Given the description of an element on the screen output the (x, y) to click on. 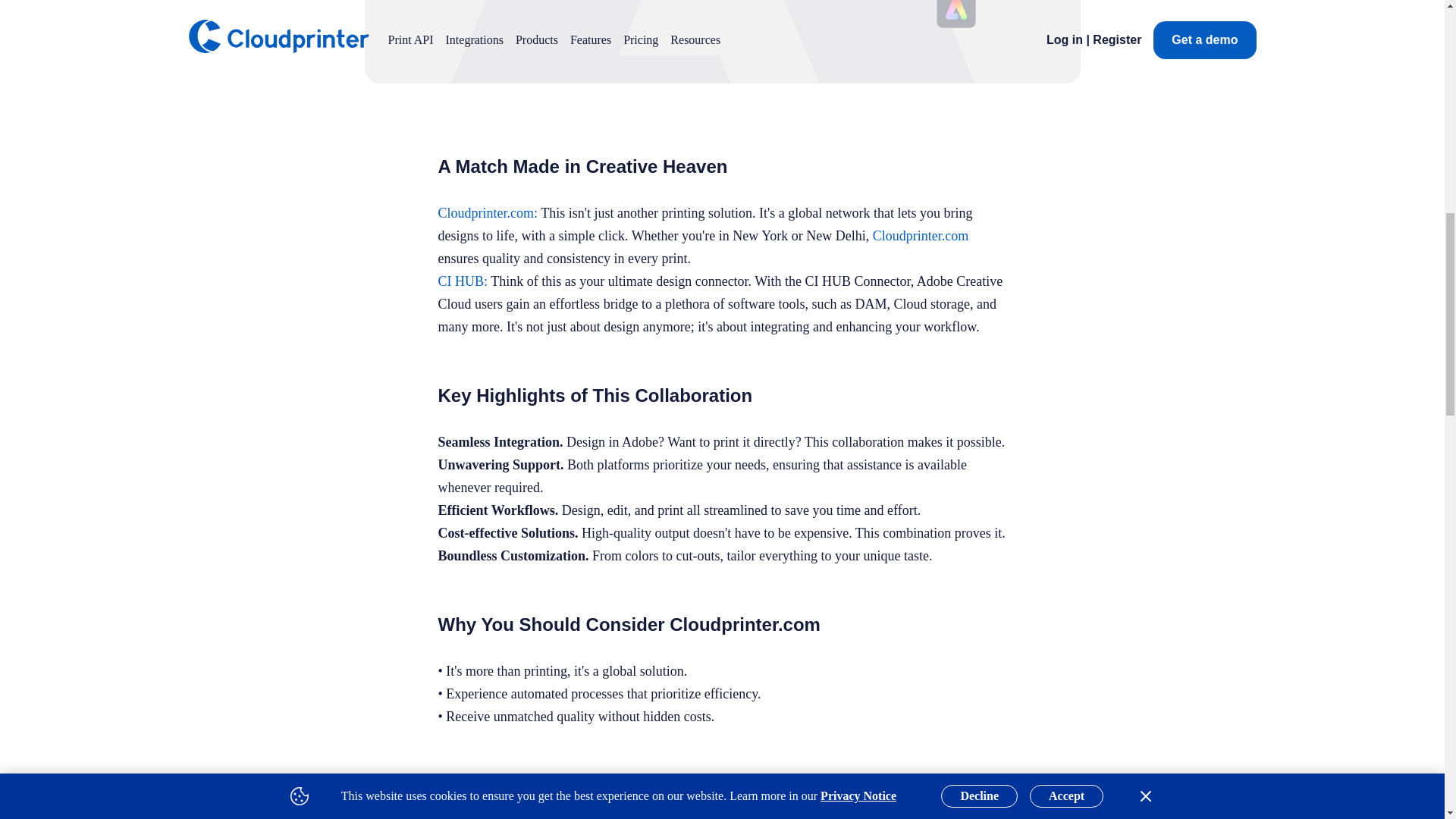
Cloudprinter.com (486, 212)
CI HUB: (462, 281)
Cloudprinter.com (920, 235)
Cloudprinter.com (745, 624)
